Given the description of an element on the screen output the (x, y) to click on. 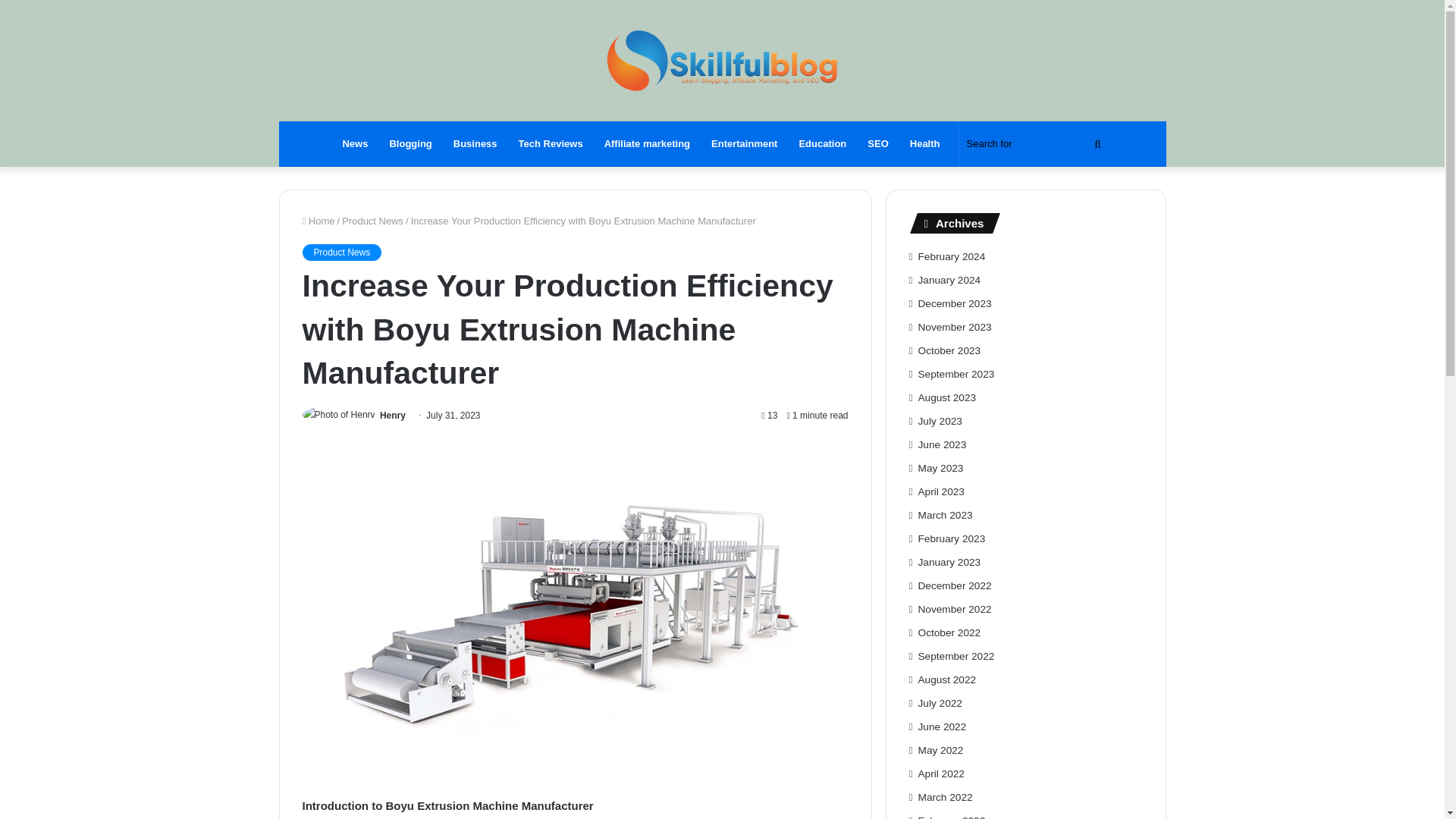
Product News (372, 220)
Entertainment (743, 144)
Product News (341, 252)
Blogging (410, 144)
Business (475, 144)
Health (924, 144)
Search for (1035, 144)
Henry (393, 415)
Home (317, 220)
skillfulblog (722, 60)
